Given the description of an element on the screen output the (x, y) to click on. 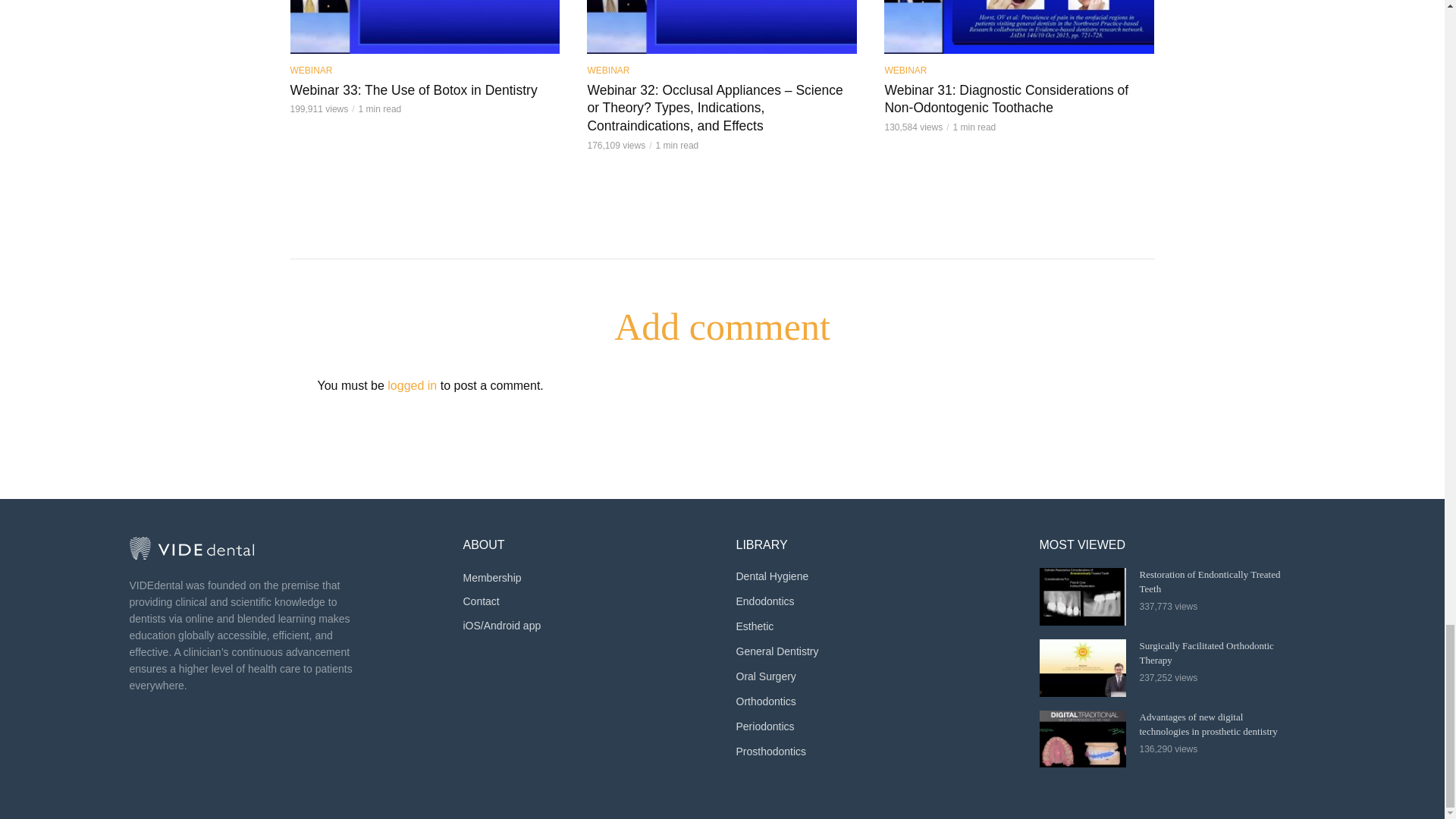
Restoration of Endontically Treated Teeth (1082, 596)
Webinar 33: The Use of Botox in Dentistry (424, 26)
Surgically Facilitated Orthodontic Therapy (1082, 667)
